Given the description of an element on the screen output the (x, y) to click on. 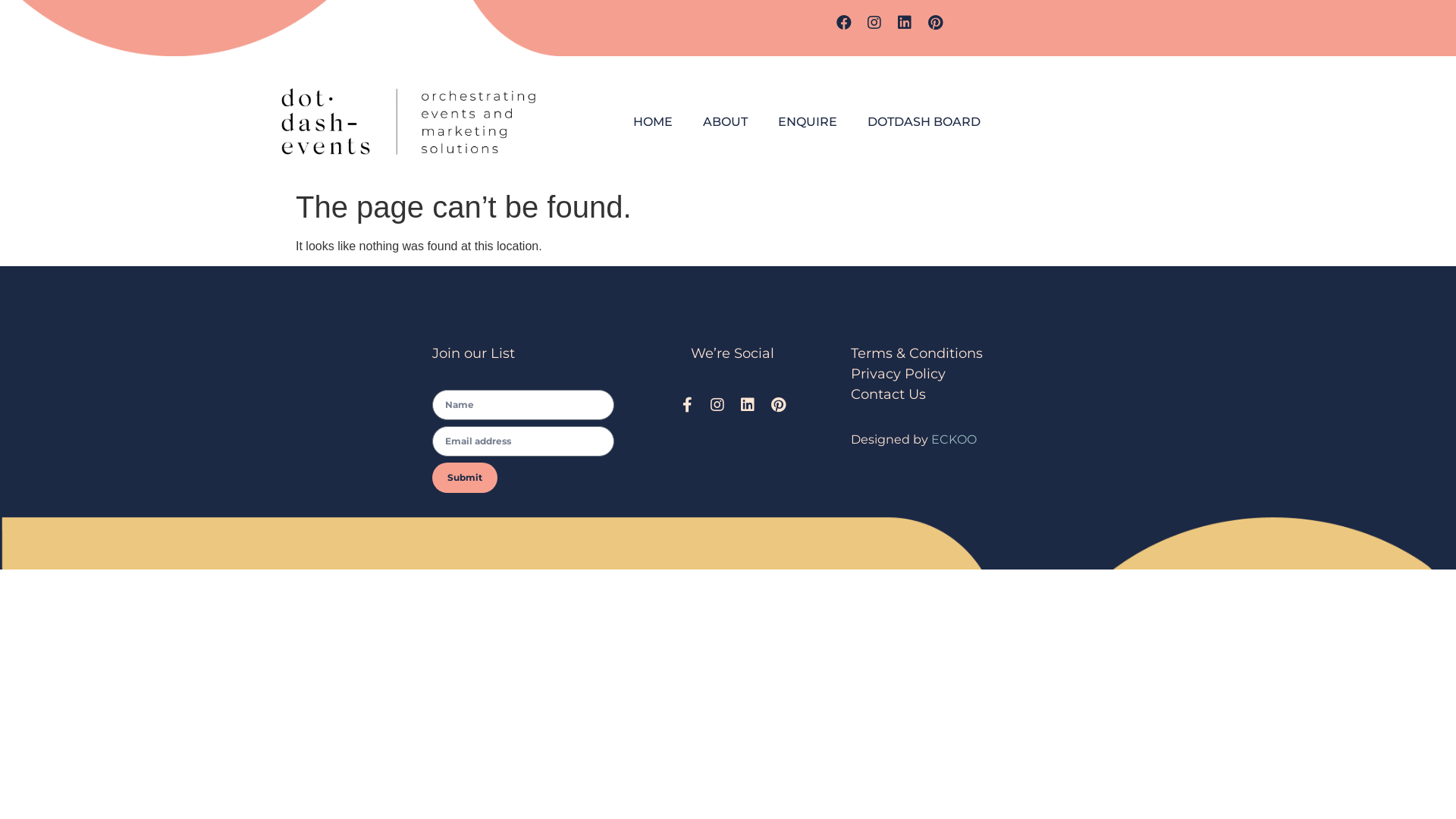
ECKOO Element type: text (953, 439)
DOTDASH BOARD Element type: text (923, 121)
ABOUT Element type: text (724, 121)
Submit Element type: text (464, 477)
Privacy Policy  Element type: text (899, 373)
HOME Element type: text (652, 121)
ENQUIRE Element type: text (807, 121)
Contact Us Element type: text (887, 393)
